Given the description of an element on the screen output the (x, y) to click on. 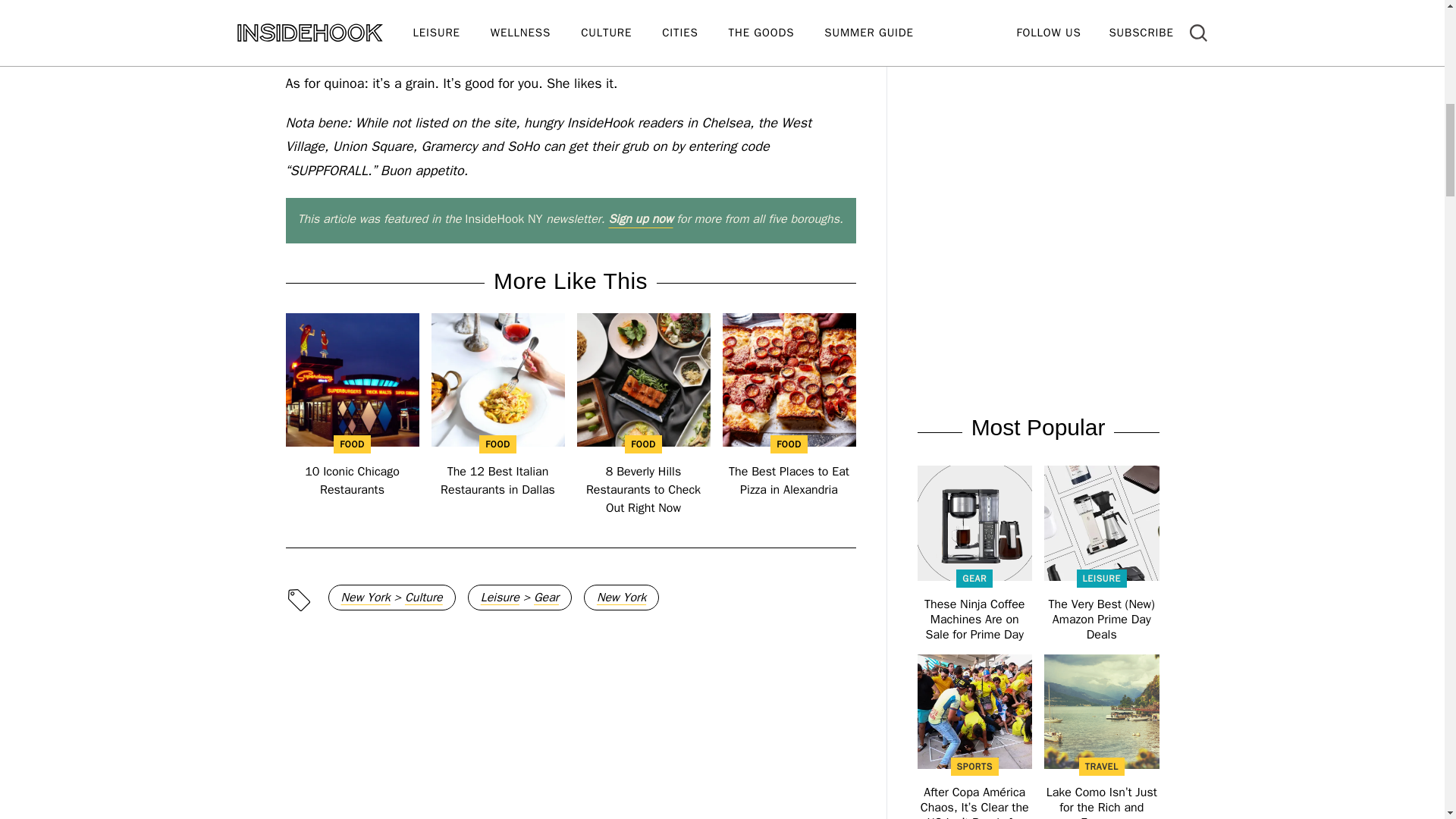
3rd party ad content (1037, 107)
